Given the description of an element on the screen output the (x, y) to click on. 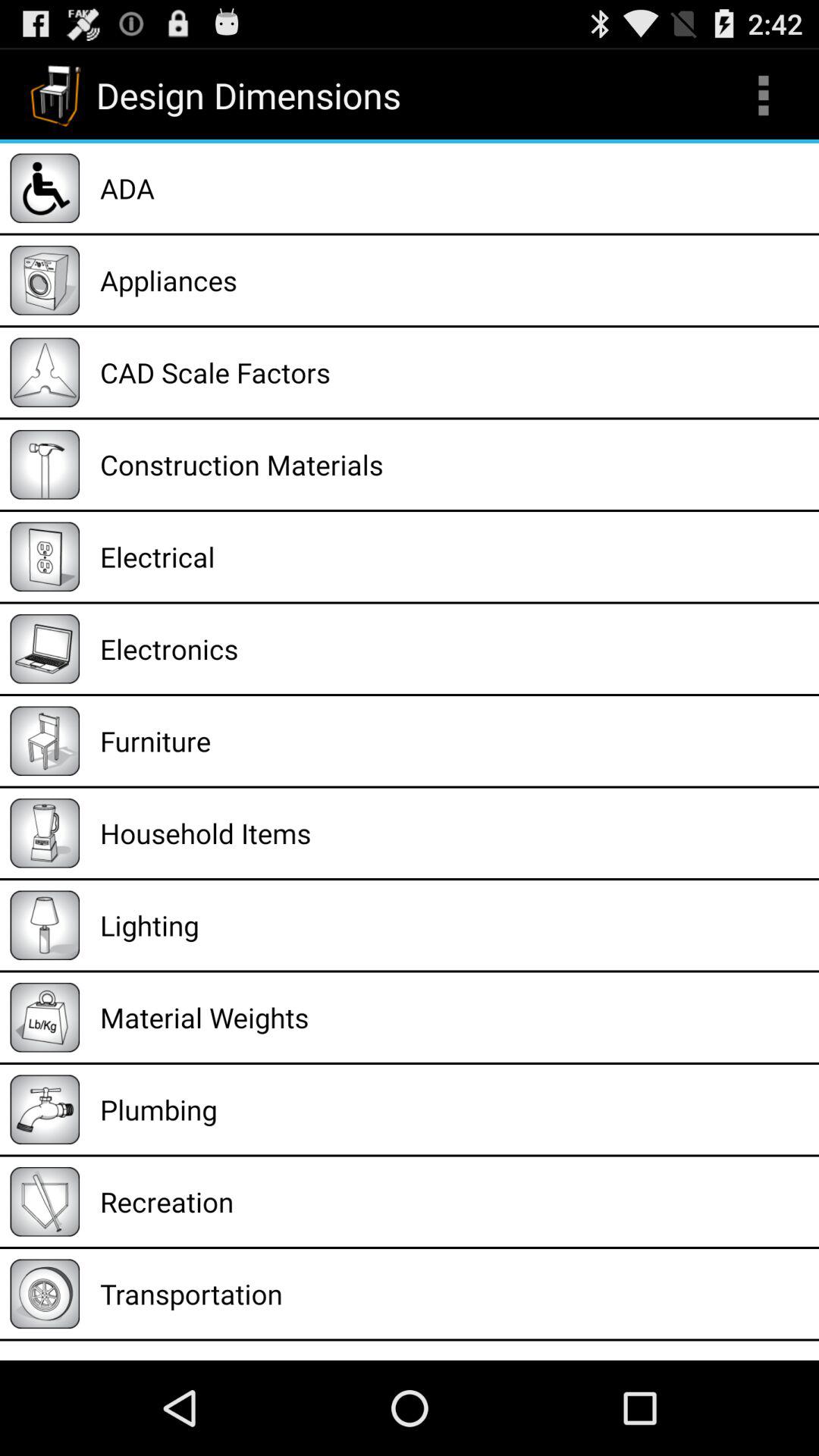
open lighting app (454, 925)
